Given the description of an element on the screen output the (x, y) to click on. 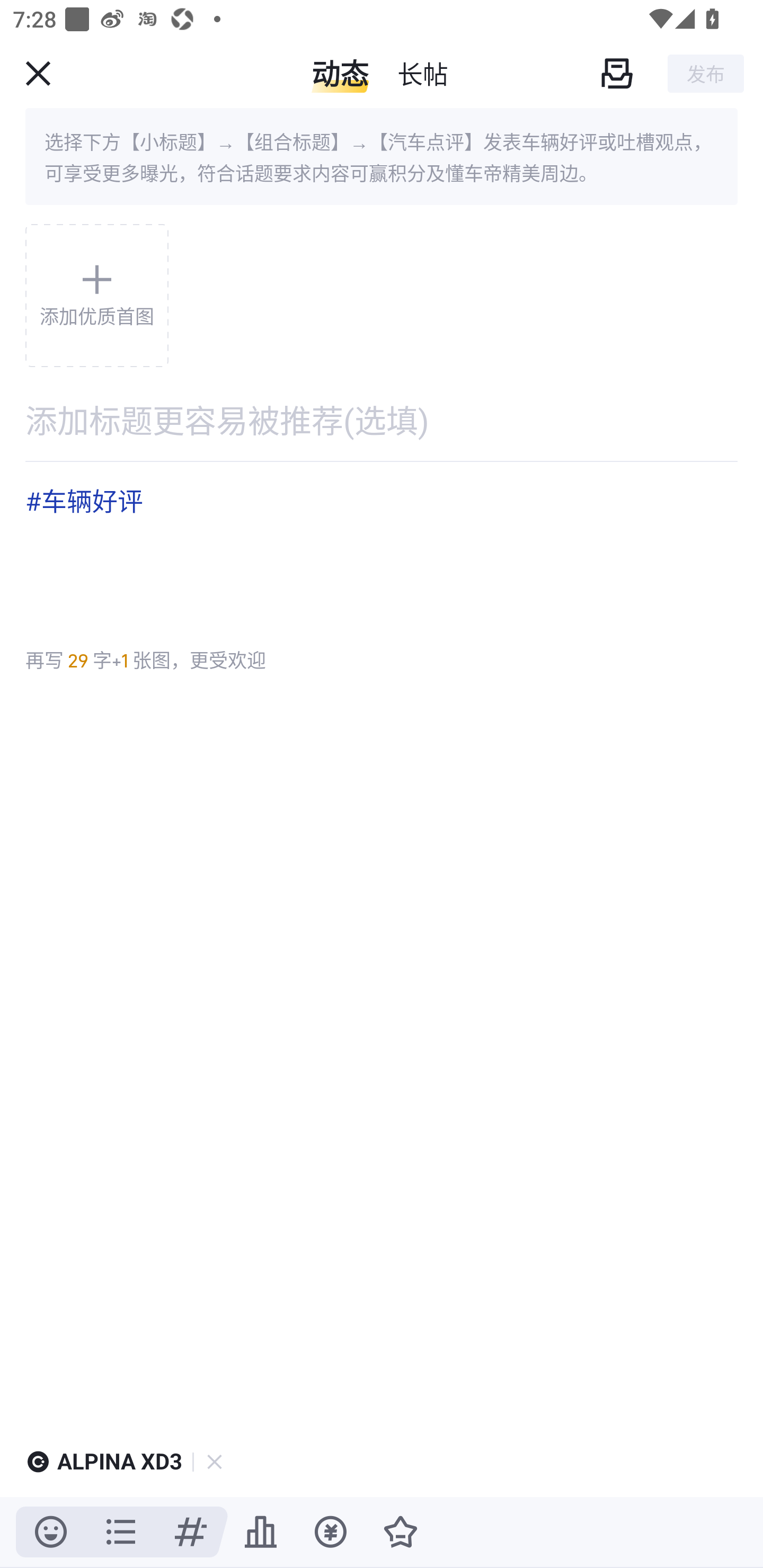
动态 (340, 72)
 (38, 73)
 (616, 73)
发布 (705, 73)
长帖 (422, 73)
 添加优质首图 (96, 295)
添加标题更容易被推荐(选填) (381, 419)
#车辆好评
 (381, 547)
再写 29 字+1 张图，更受欢迎 (145, 660)
ALPINA XD3 (120, 1461)
 (260, 1531)
 (330, 1531)
 (400, 1531)
 (51, 1531)
 (190, 1531)
